Given the description of an element on the screen output the (x, y) to click on. 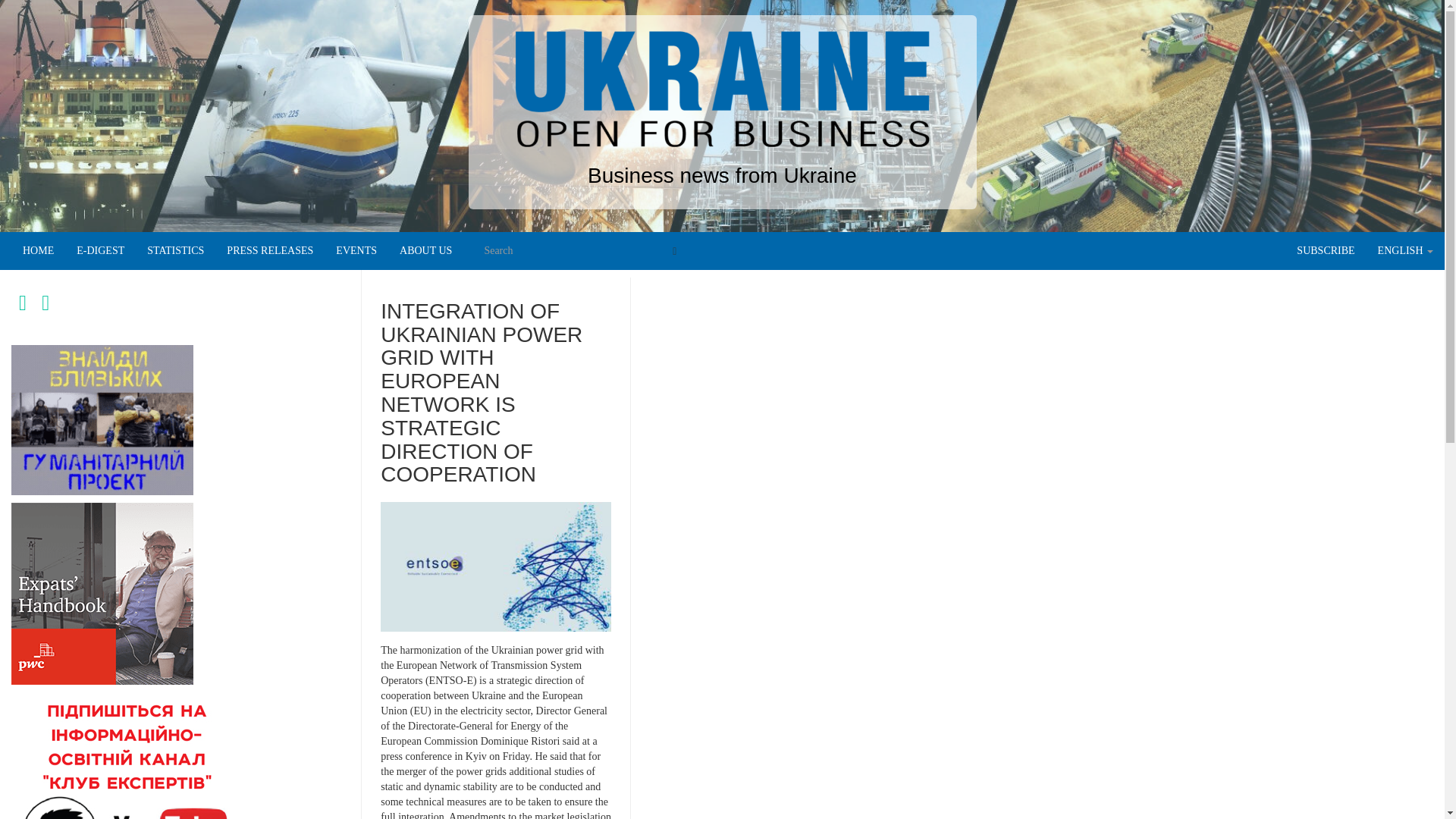
PRESS RELEASES (269, 250)
Subscribe (1325, 250)
Statistics (175, 250)
HOME (38, 250)
E-digest (100, 250)
Home (38, 250)
Events (356, 250)
SUBSCRIBE (1325, 250)
ABOUT US (425, 250)
PRESS RELEASES (269, 250)
E-DIGEST (100, 250)
About us (425, 250)
STATISTICS (175, 250)
EVENTS (356, 250)
